Given the description of an element on the screen output the (x, y) to click on. 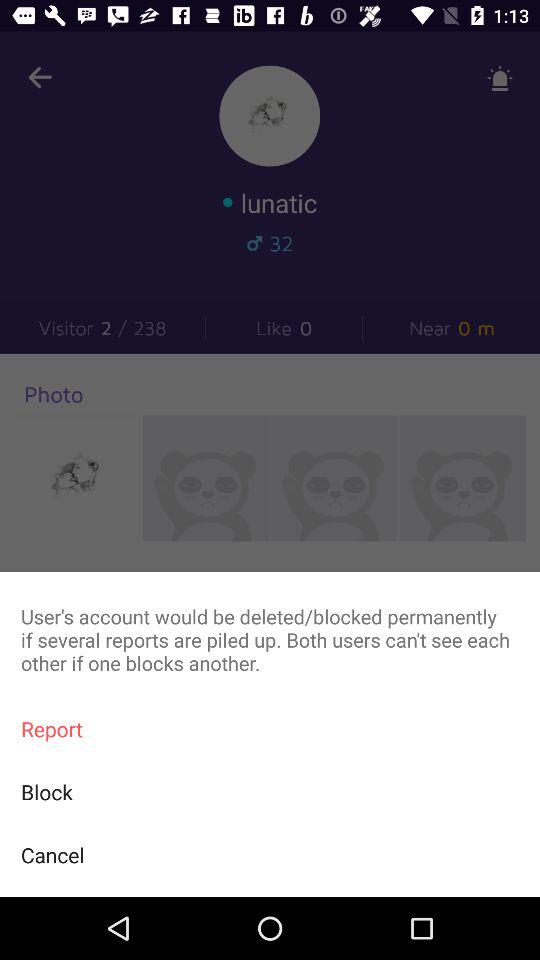
open item above the cancel (270, 791)
